Given the description of an element on the screen output the (x, y) to click on. 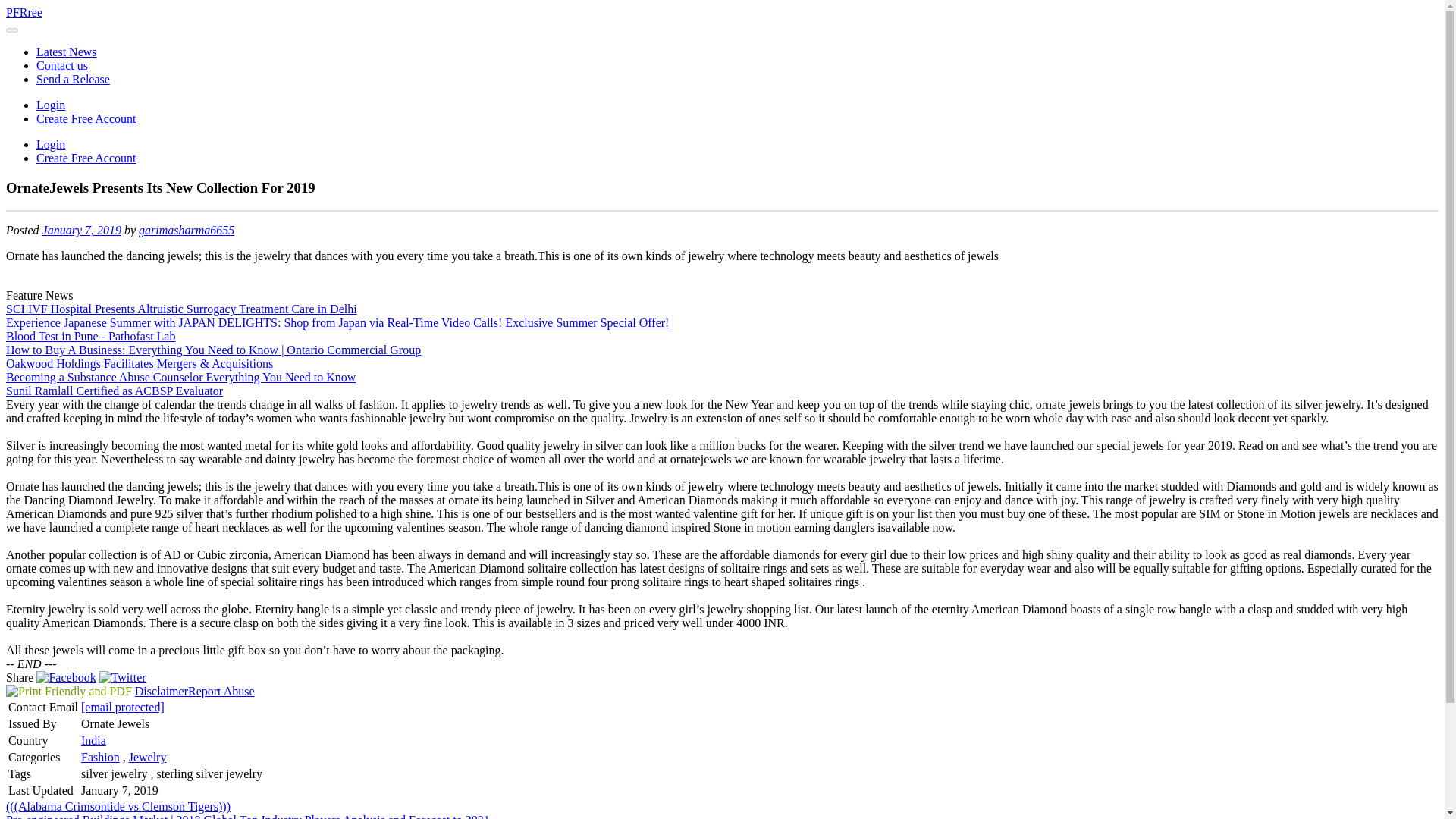
Blood Test in Pune - Pathofast Lab (89, 336)
Login (50, 144)
Latest News (66, 51)
Disclaimer (161, 690)
Printer Friendly and PDF (68, 690)
Jewelry (148, 757)
Login (50, 104)
Fashion (100, 757)
Create Free Account (86, 118)
garimasharma6655 (186, 229)
Create Free Account (86, 157)
January 7, 2019 (81, 229)
Send a Release (73, 78)
